Given the description of an element on the screen output the (x, y) to click on. 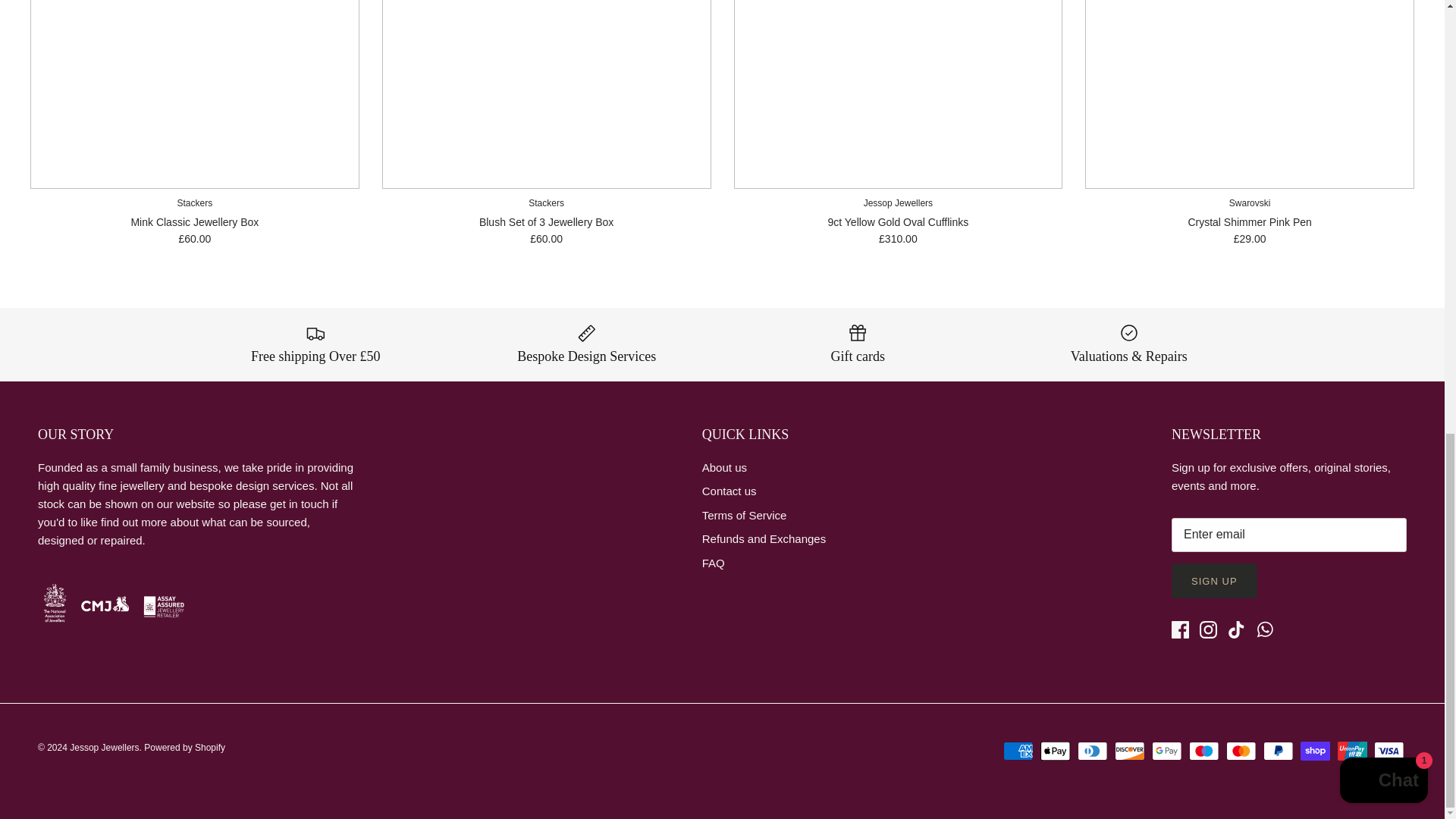
Google Pay (1166, 751)
Diners Club (1092, 751)
Facebook (1180, 629)
American Express (1018, 751)
Apple Pay (1055, 751)
Discover (1129, 751)
Instagram (1208, 629)
